Given the description of an element on the screen output the (x, y) to click on. 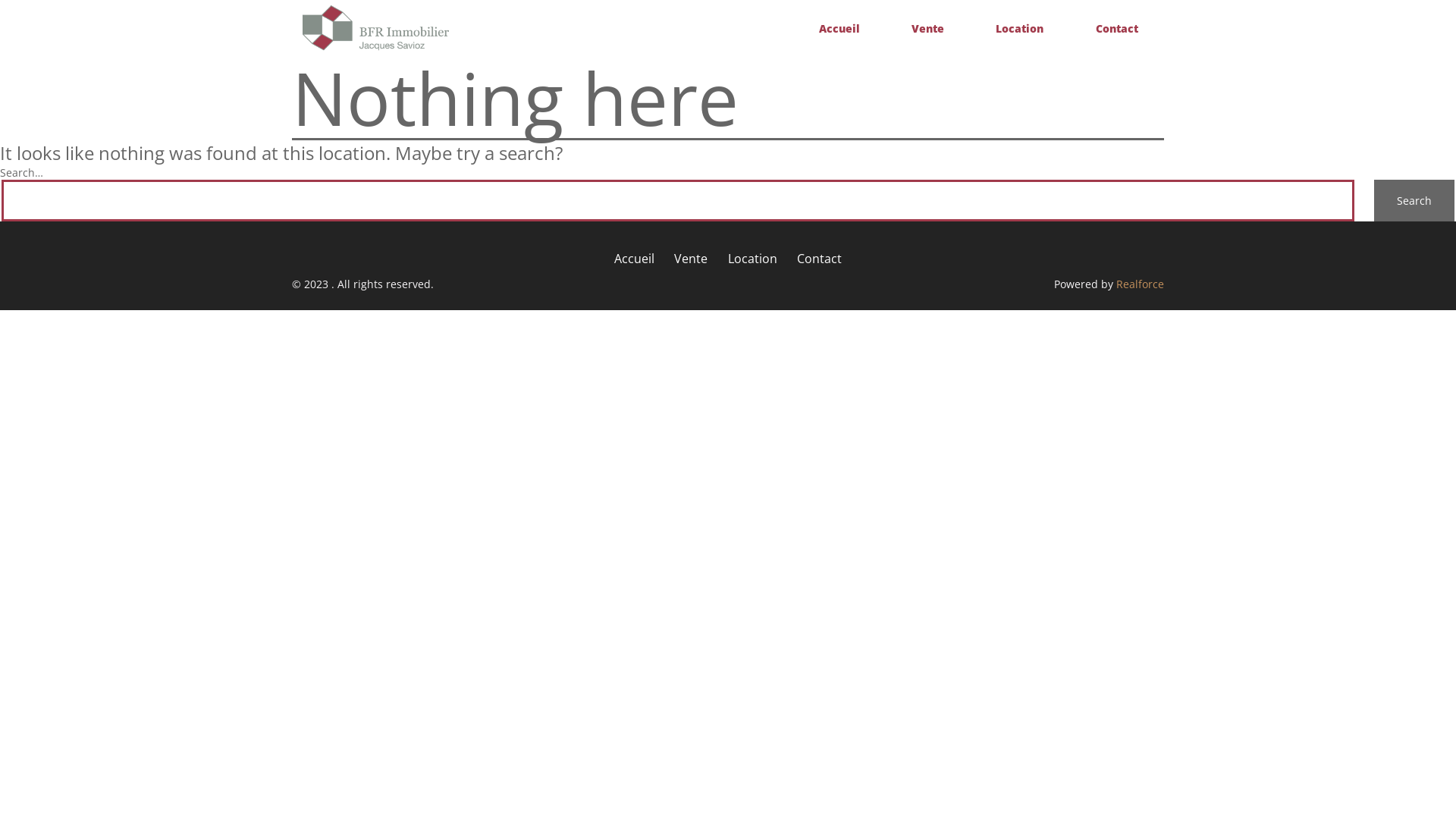
Accueil Element type: text (634, 258)
Vente Element type: text (690, 258)
Contact Element type: text (819, 258)
Vente Element type: text (927, 28)
Accueil Element type: text (838, 28)
Location Element type: text (1019, 28)
Contact Element type: text (1116, 28)
Location Element type: text (751, 258)
Realforce Element type: text (1140, 283)
Search Element type: text (1414, 200)
